Given the description of an element on the screen output the (x, y) to click on. 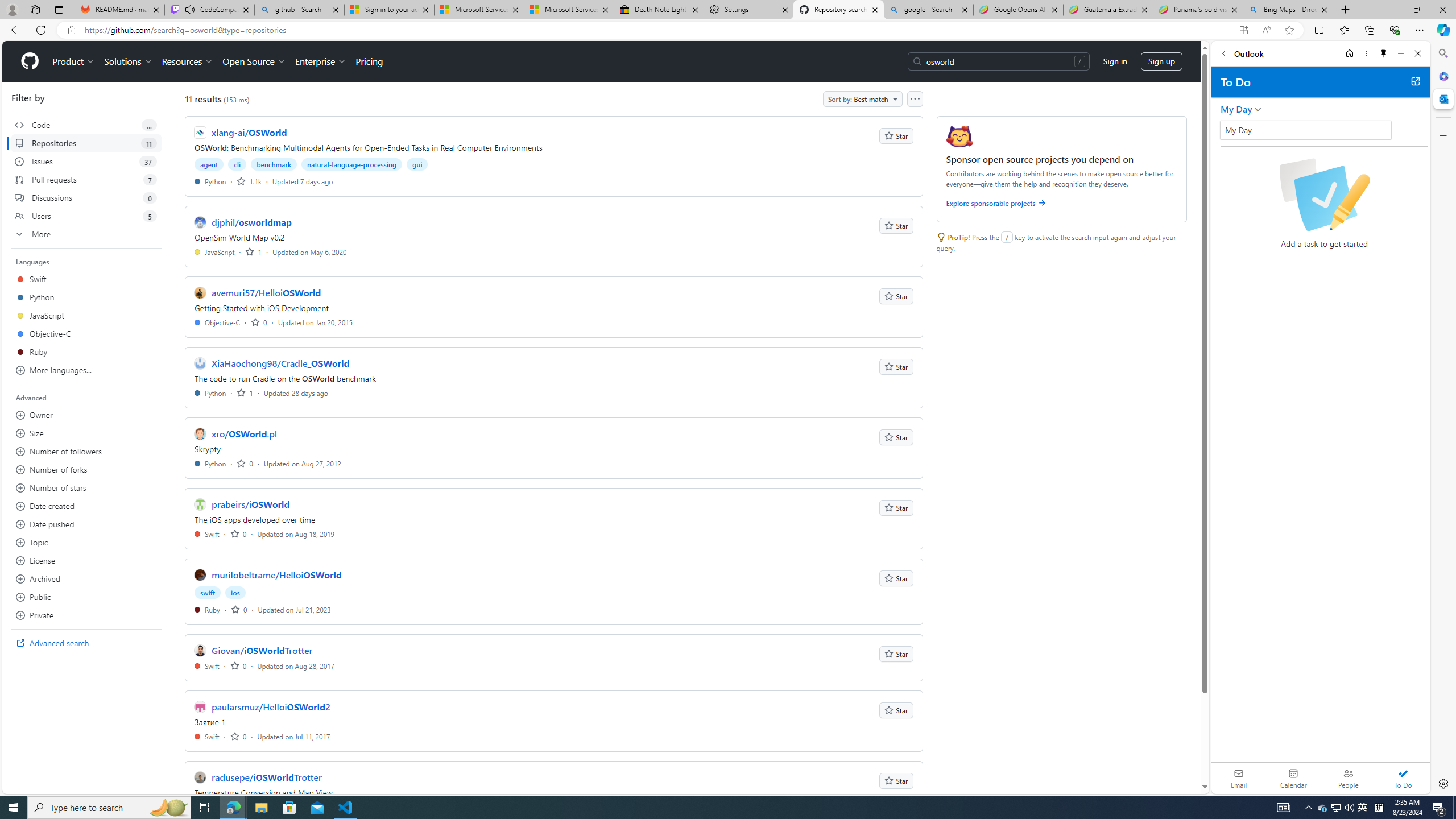
People (1347, 777)
gui (417, 164)
Open Source (254, 60)
More (86, 234)
Sort by: Best match (862, 98)
Unpin side pane (1383, 53)
